Given the description of an element on the screen output the (x, y) to click on. 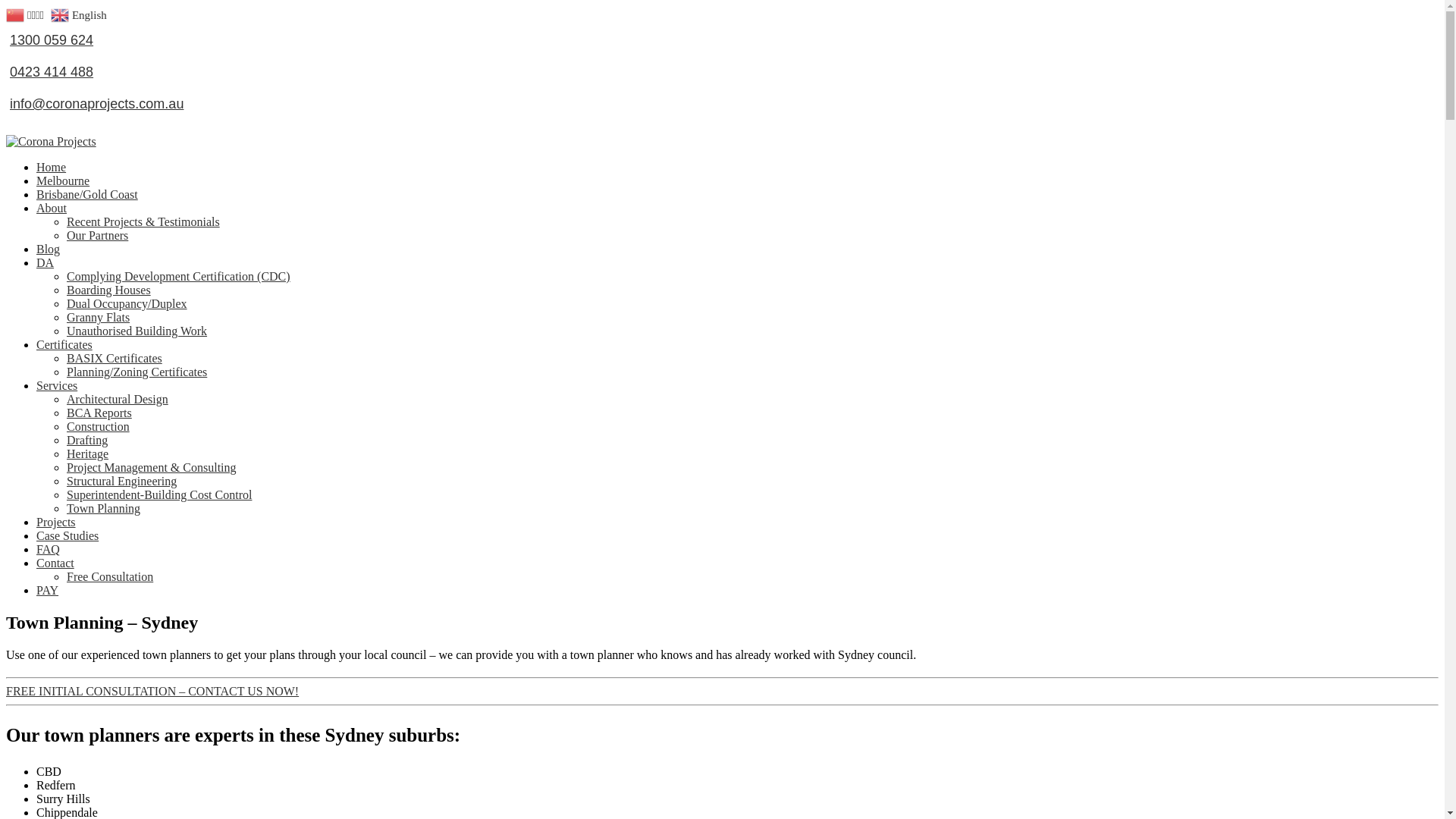
Home Element type: text (50, 155)
info@coronaprojects.com.au Element type: text (722, 103)
Town Planning Element type: text (103, 496)
Services Element type: text (56, 374)
Our Partners Element type: text (97, 223)
Granny Flats Element type: text (97, 305)
BASIX Certificates Element type: text (114, 346)
Melbourne Element type: text (62, 169)
Complying Development Certification (CDC) Element type: text (178, 264)
Planning/Zoning Certificates Element type: text (136, 360)
Boarding Houses Element type: text (108, 278)
Project Management & Consulting Element type: text (151, 455)
About Element type: text (51, 196)
Projects Element type: text (55, 510)
Contact Element type: text (55, 551)
Heritage Element type: text (87, 442)
Recent Projects & Testimonials Element type: text (142, 210)
1300 059 624 Element type: text (722, 40)
PAY Element type: text (47, 578)
Superintendent-Building Cost Control Element type: text (158, 483)
0423 414 488 Element type: text (722, 71)
Brisbane/Gold Coast Element type: text (87, 182)
BCA Reports Element type: text (98, 401)
FAQ Element type: text (47, 537)
Dual Occupancy/Duplex Element type: text (126, 292)
Case Studies Element type: text (67, 524)
Drafting Element type: text (86, 428)
Construction Element type: text (97, 415)
Certificates Element type: text (64, 333)
Structural Engineering Element type: text (121, 469)
Blog Element type: text (47, 237)
Unauthorised Building Work Element type: text (136, 319)
DA Element type: text (44, 251)
English Element type: text (80, 13)
Architectural Design Element type: text (117, 387)
Free Consultation Element type: text (109, 565)
